Given the description of an element on the screen output the (x, y) to click on. 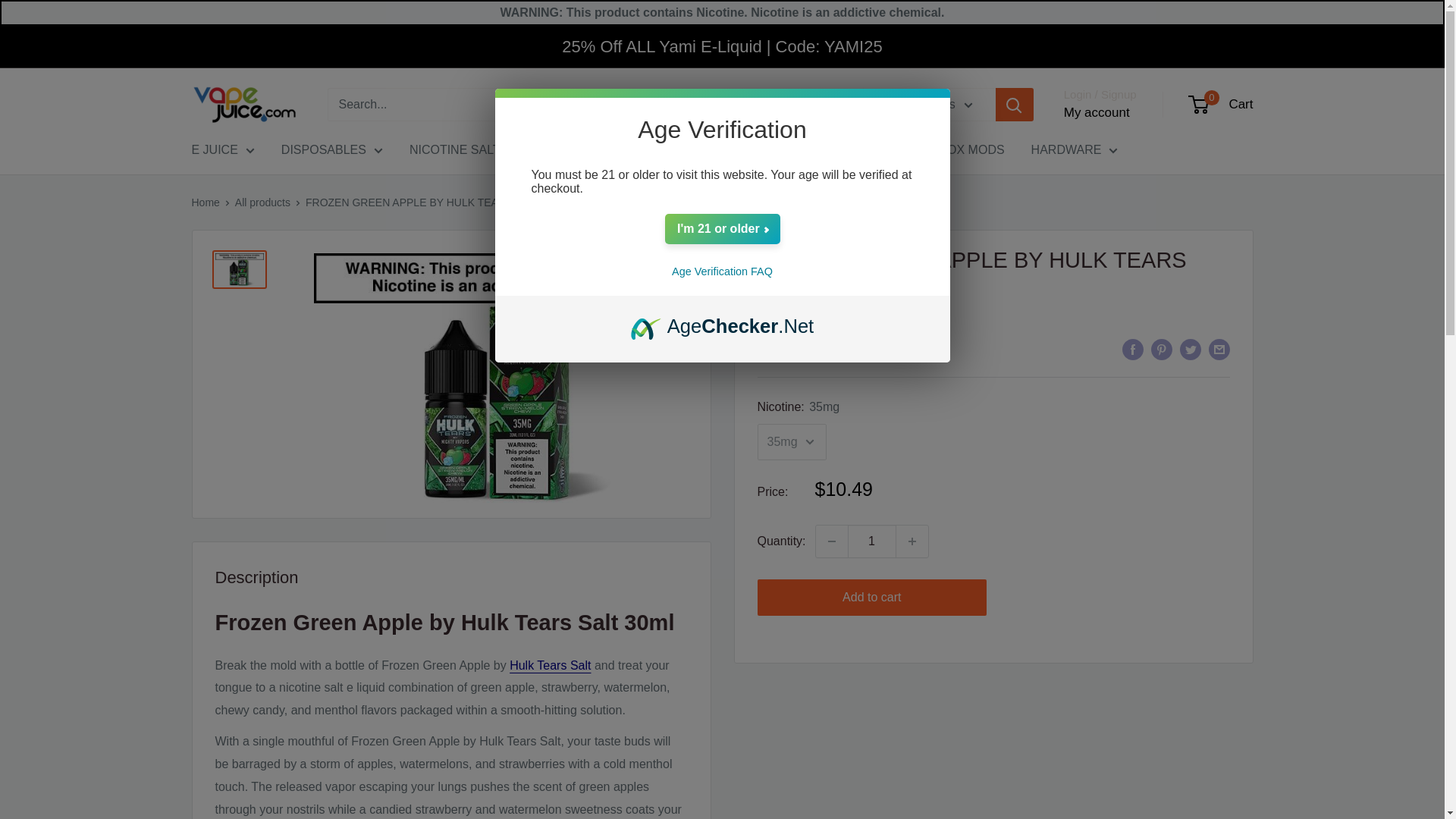
1 (871, 541)
Increase quantity by 1 (912, 541)
Decrease quantity by 1 (831, 541)
